Given the description of an element on the screen output the (x, y) to click on. 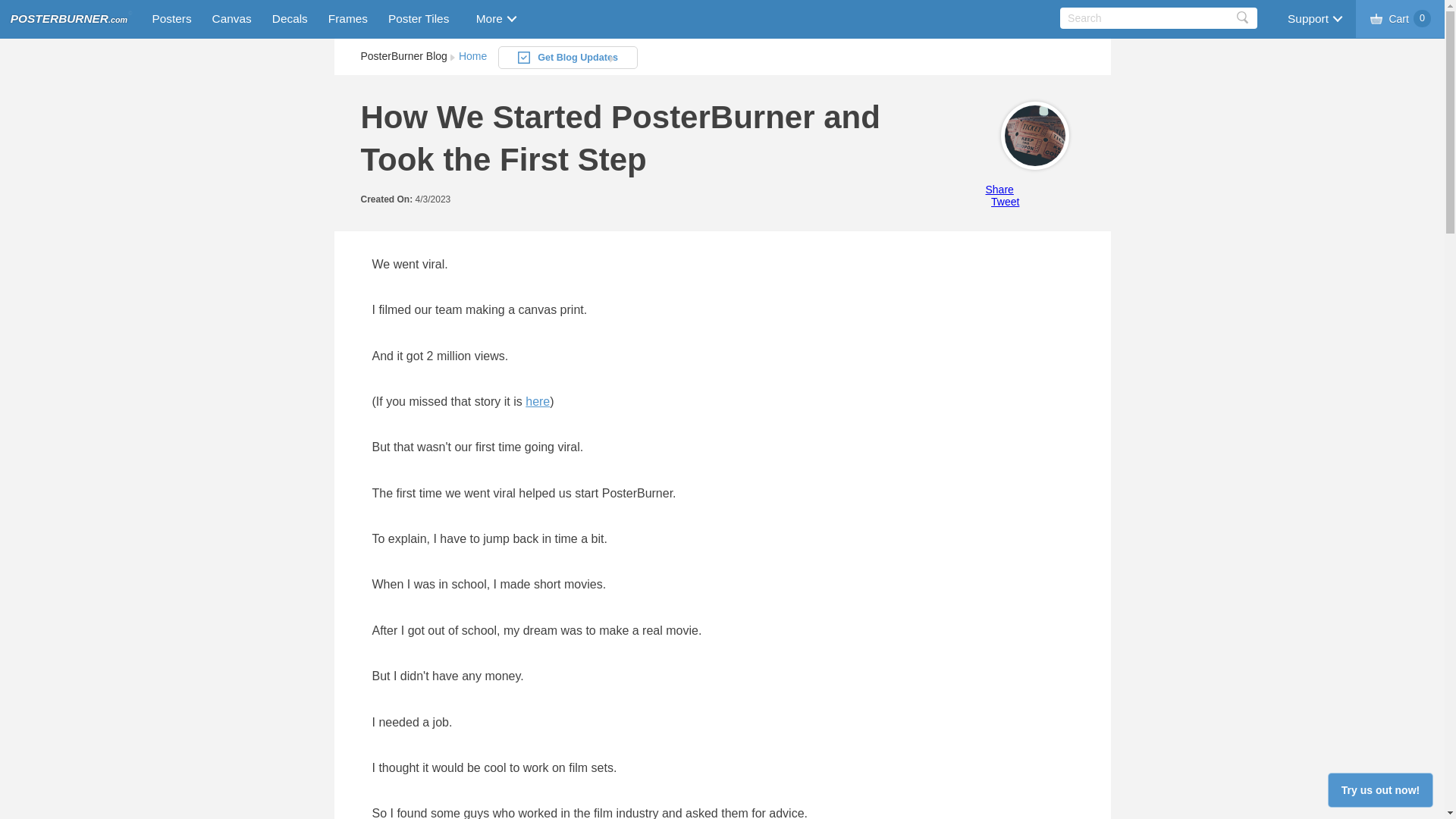
Decals (289, 18)
Support (1313, 18)
PosterBurner.com (68, 19)
Poster Tiles (418, 18)
Canvas (231, 18)
Frames (346, 18)
More (495, 18)
Posters (168, 18)
